Given the description of an element on the screen output the (x, y) to click on. 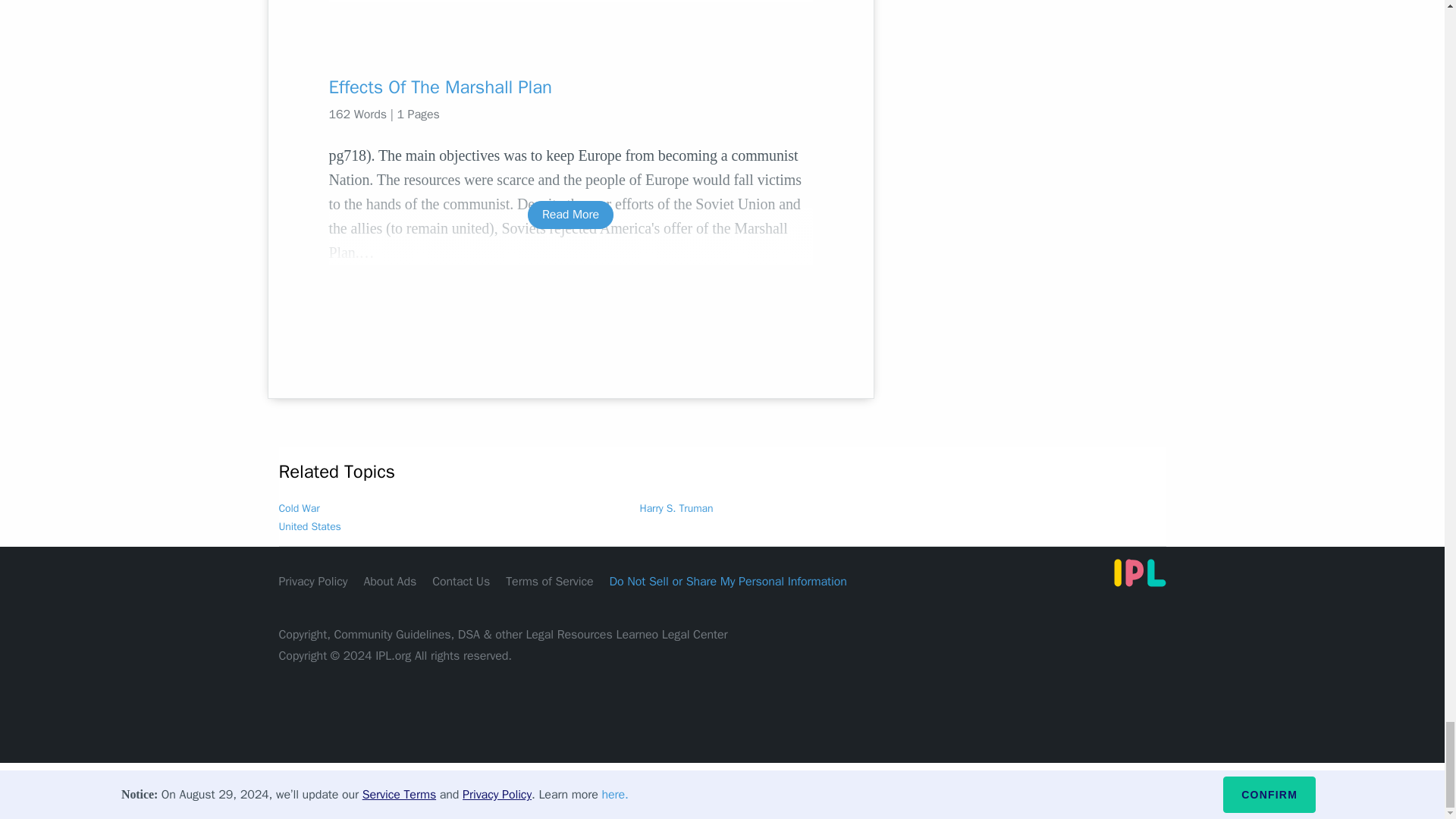
Cold War (299, 508)
Harry S. Truman (676, 508)
United States (309, 526)
Terms of Service (548, 581)
About Ads (389, 581)
Contact Us (460, 581)
Privacy Policy (313, 581)
